Given the description of an element on the screen output the (x, y) to click on. 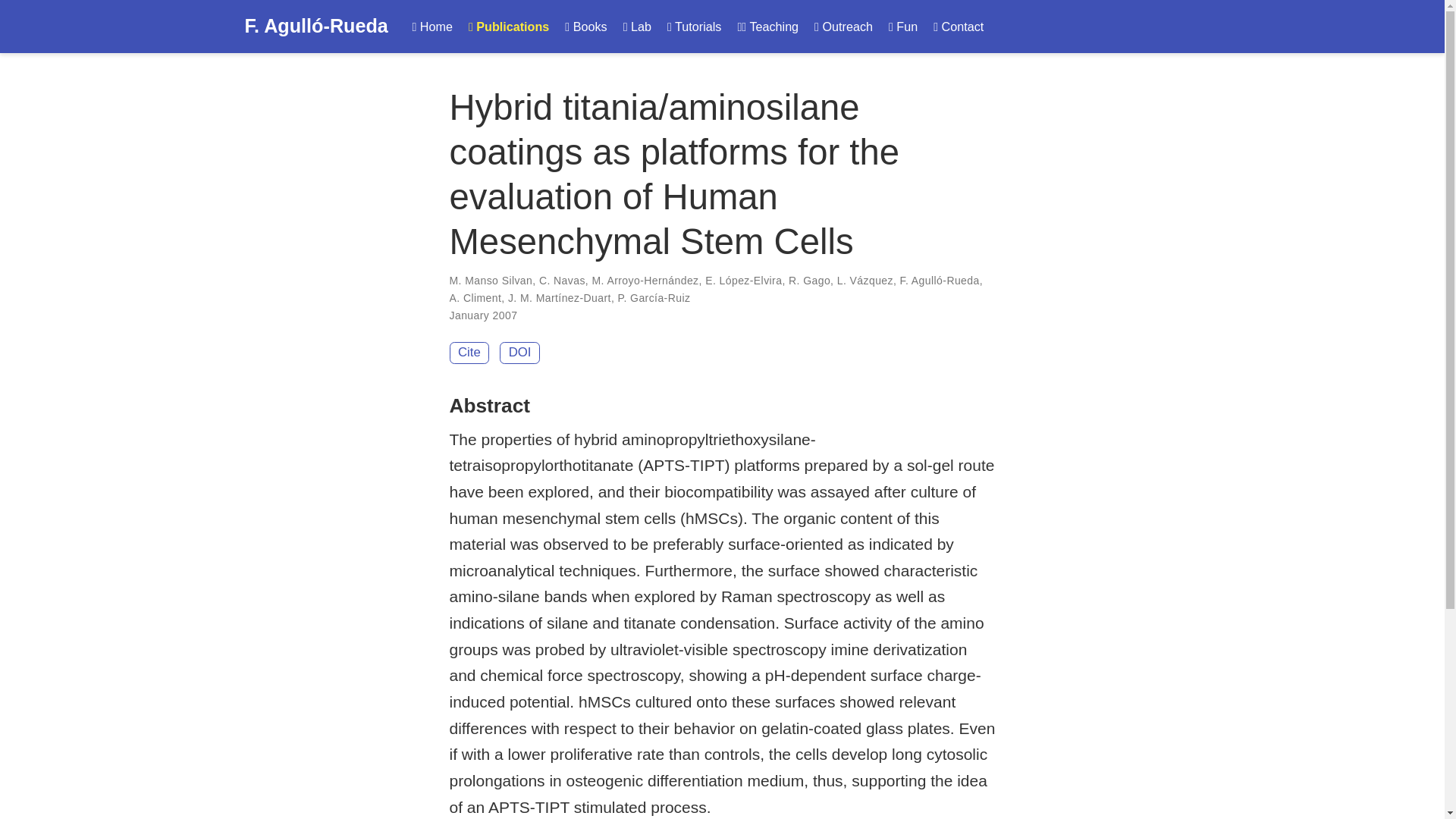
DOI (519, 352)
M. Manso Silvan (490, 280)
R. Gago (809, 280)
C. Navas (561, 280)
A. Climent (474, 297)
Cite (468, 352)
